Given the description of an element on the screen output the (x, y) to click on. 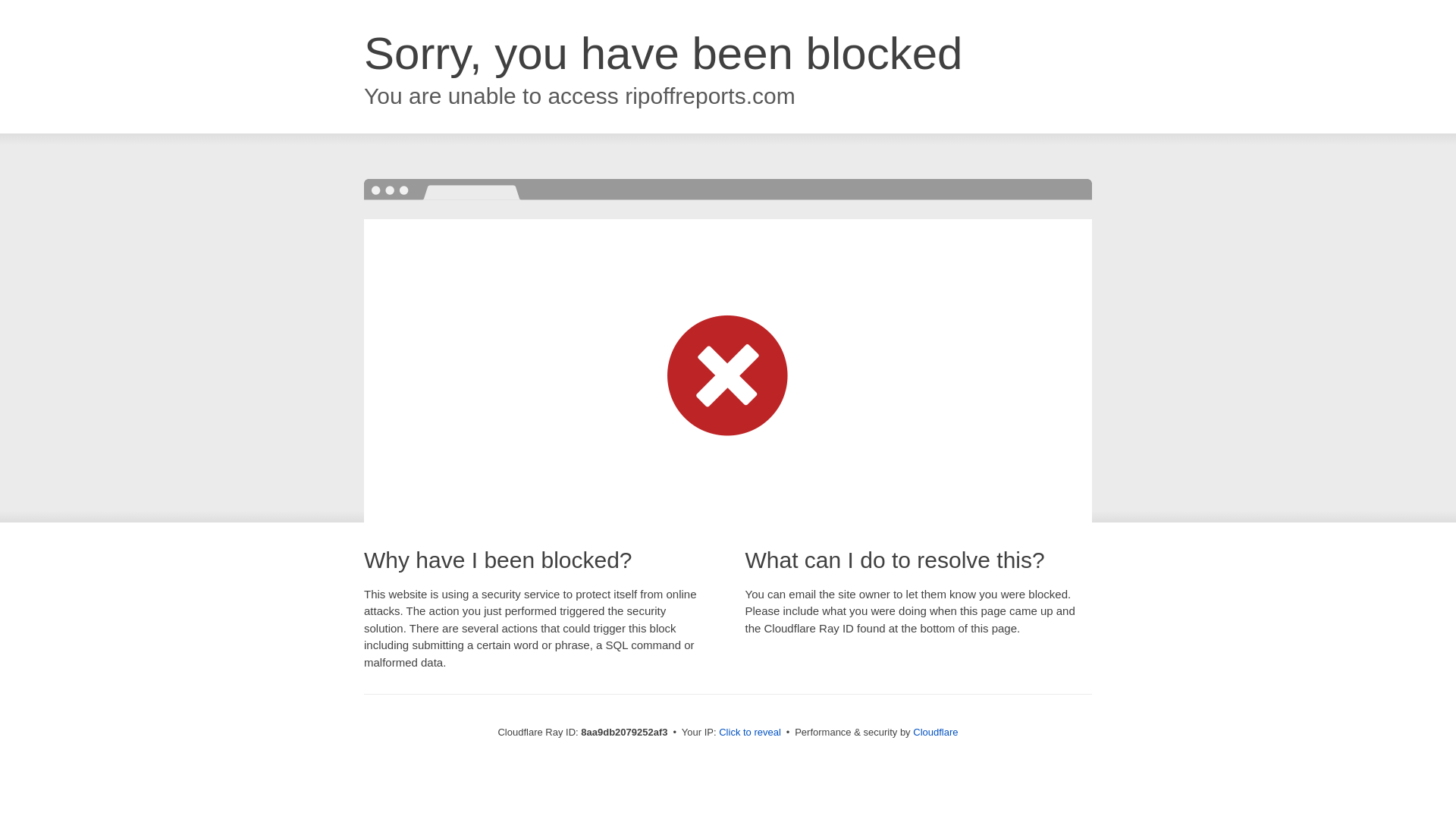
Click to reveal (749, 732)
Cloudflare (935, 731)
